Given the description of an element on the screen output the (x, y) to click on. 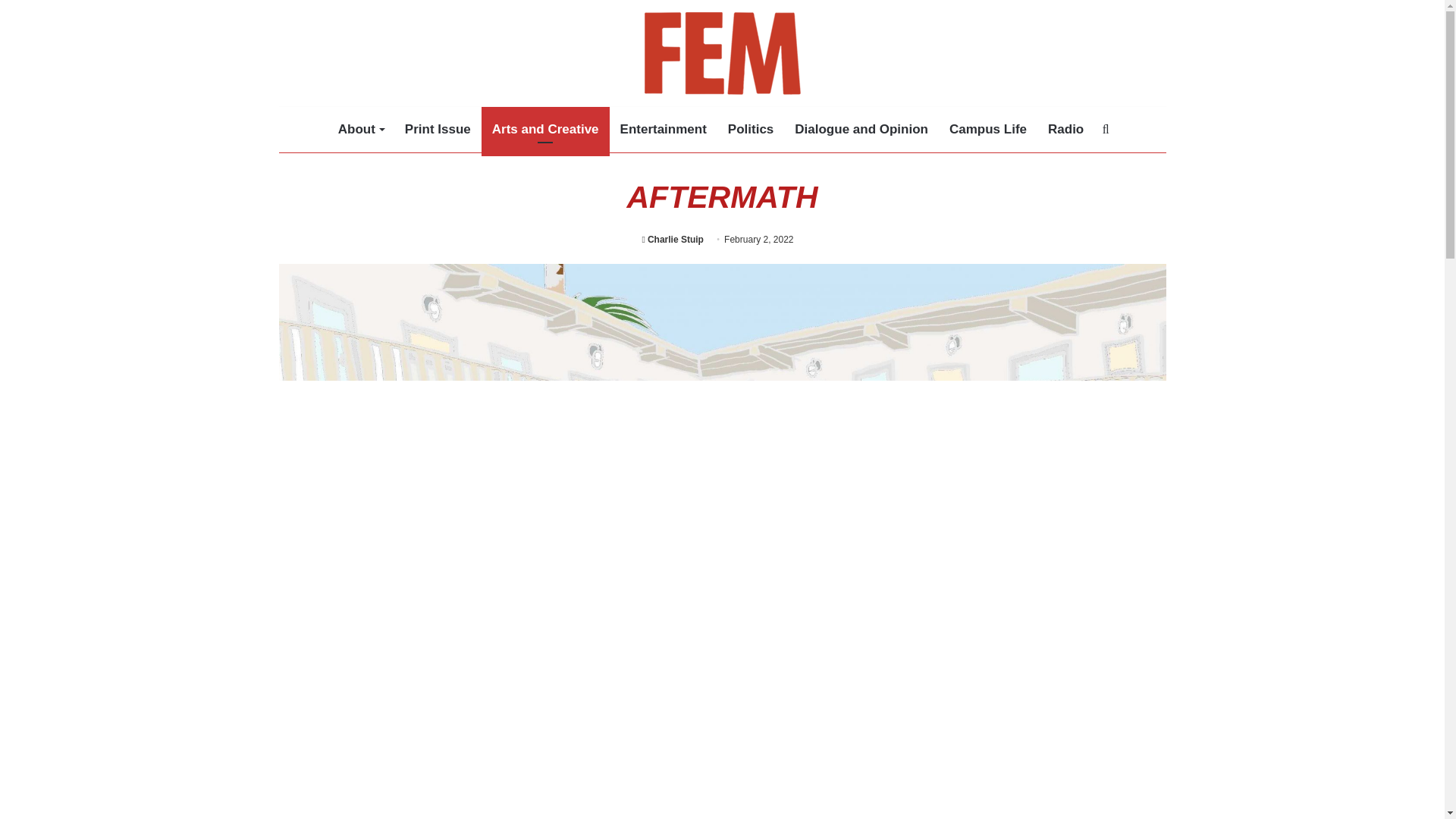
Politics (750, 129)
Radio (1065, 129)
Entertainment (663, 129)
FEM Newsmagazine (721, 54)
Dialogue and Opinion (861, 129)
About (360, 129)
Print Issue (437, 129)
Charlie Stuip (672, 239)
Charlie Stuip (672, 239)
Campus Life (987, 129)
